Given the description of an element on the screen output the (x, y) to click on. 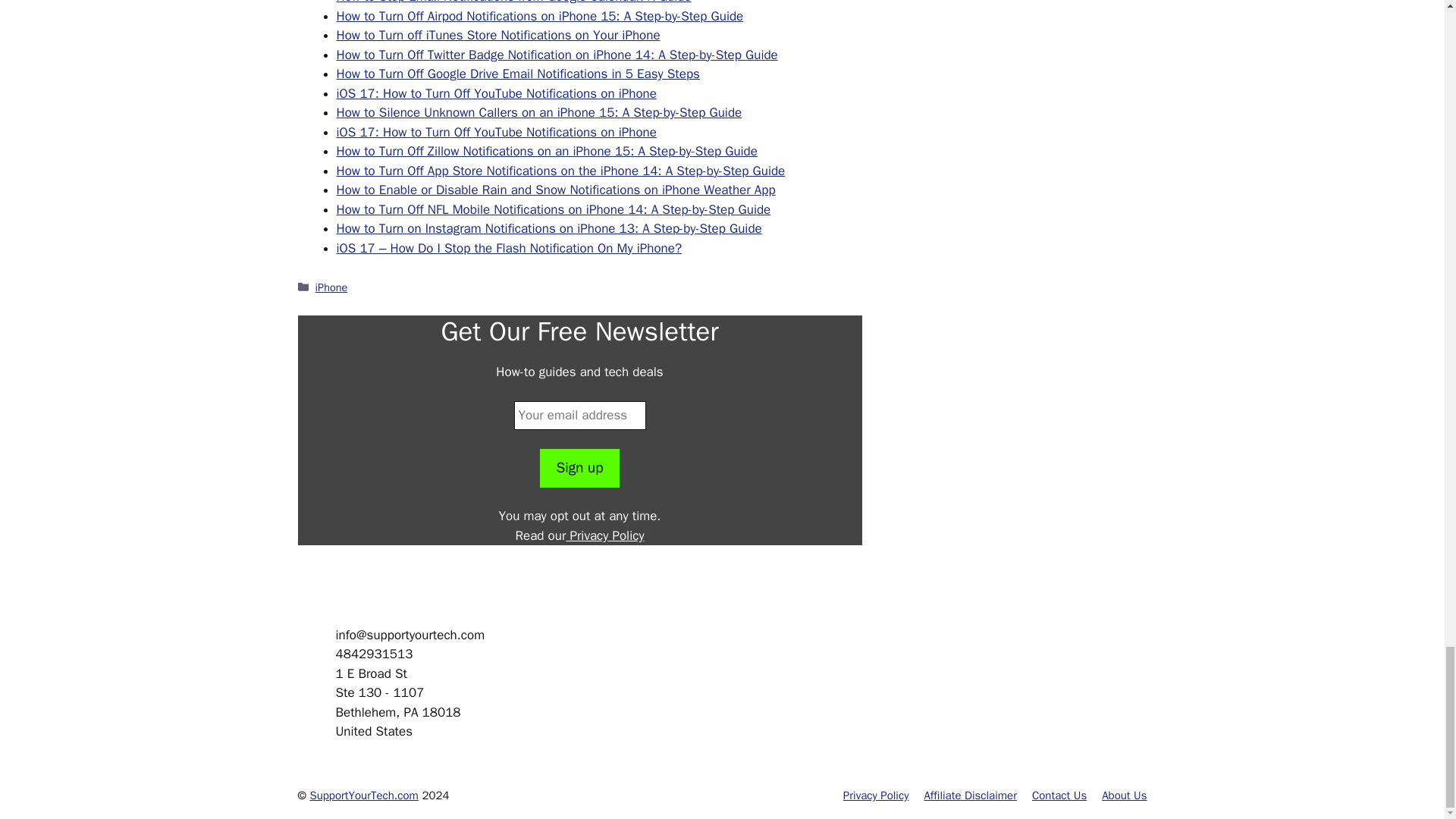
Sign up (579, 467)
iPhone (331, 287)
iOS 17: How to Turn Off YouTube Notifications on iPhone (496, 132)
